Given the description of an element on the screen output the (x, y) to click on. 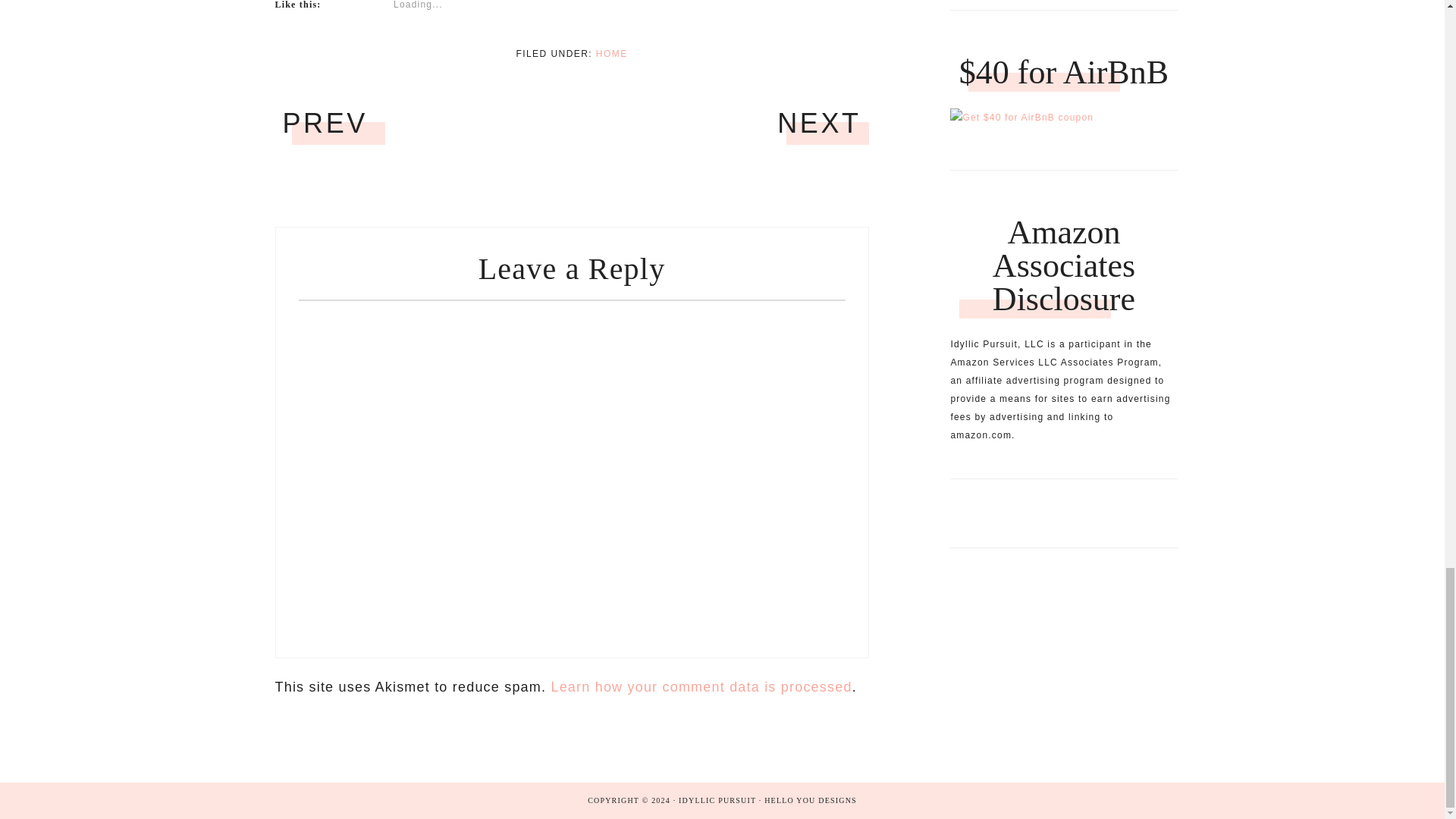
HELLO YOU DESIGNS (810, 773)
Learn how your comment data is processed (700, 488)
